Given the description of an element on the screen output the (x, y) to click on. 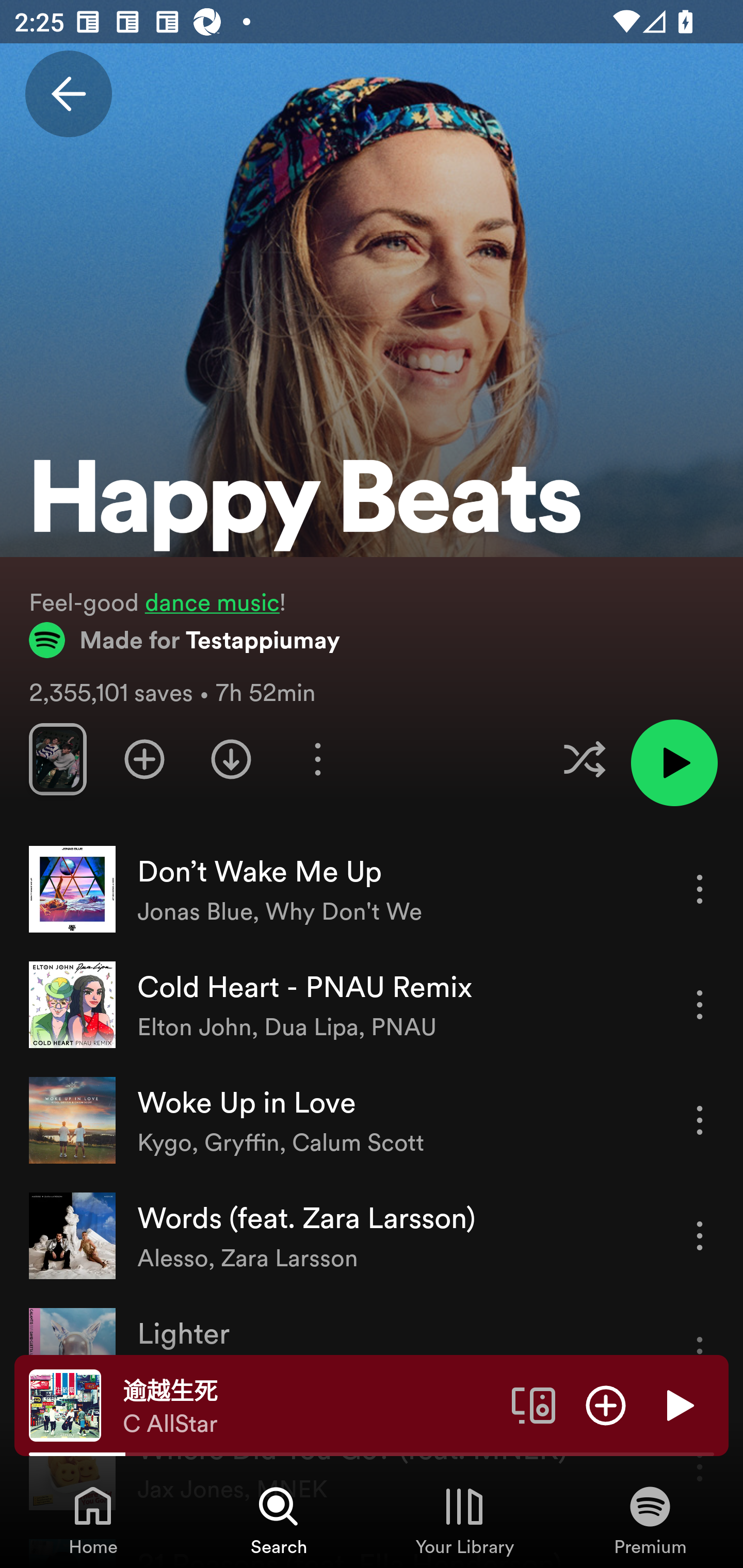
Back (68, 93)
Made for Testappiumay (184, 640)
Swipe through previews of tracks in this playlist. (57, 759)
Add playlist to Your Library (144, 759)
Download (230, 759)
More options for playlist Happy Beats (317, 759)
Enable shuffle for this playlist (583, 759)
Play playlist (674, 762)
More options for song Don’t Wake Me Up (699, 888)
More options for song Cold Heart - PNAU Remix (699, 1004)
More options for song Woke Up in Love (699, 1120)
More options for song Words (feat. Zara Larsson) (699, 1236)
逾越生死 C AllStar (309, 1405)
The cover art of the currently playing track (64, 1404)
Connect to a device. Opens the devices menu (533, 1404)
Add item (605, 1404)
Play (677, 1404)
Home, Tab 1 of 4 Home Home (92, 1519)
Search, Tab 2 of 4 Search Search (278, 1519)
Your Library, Tab 3 of 4 Your Library Your Library (464, 1519)
Premium, Tab 4 of 4 Premium Premium (650, 1519)
